Given the description of an element on the screen output the (x, y) to click on. 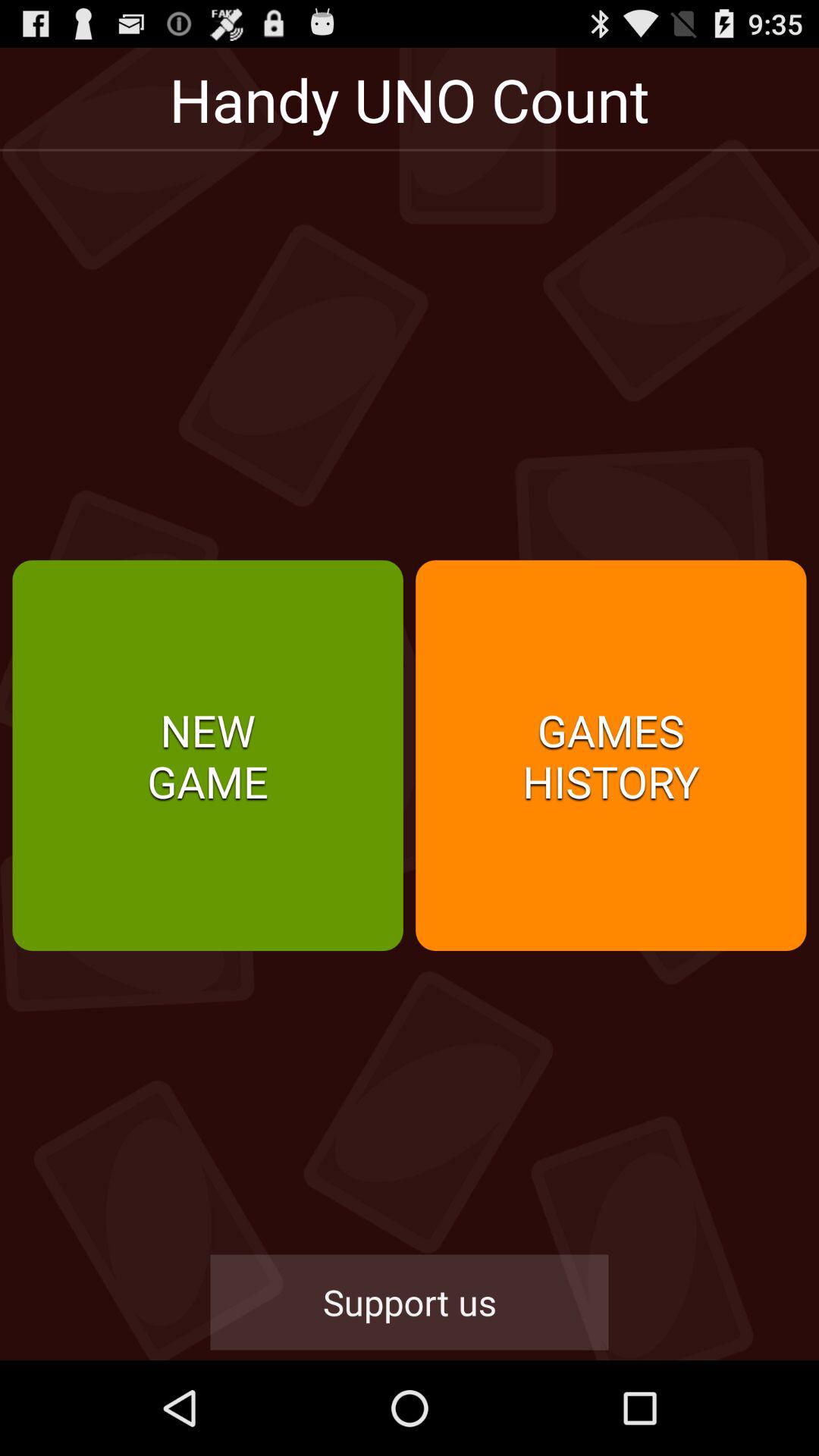
click support us item (409, 1302)
